Given the description of an element on the screen output the (x, y) to click on. 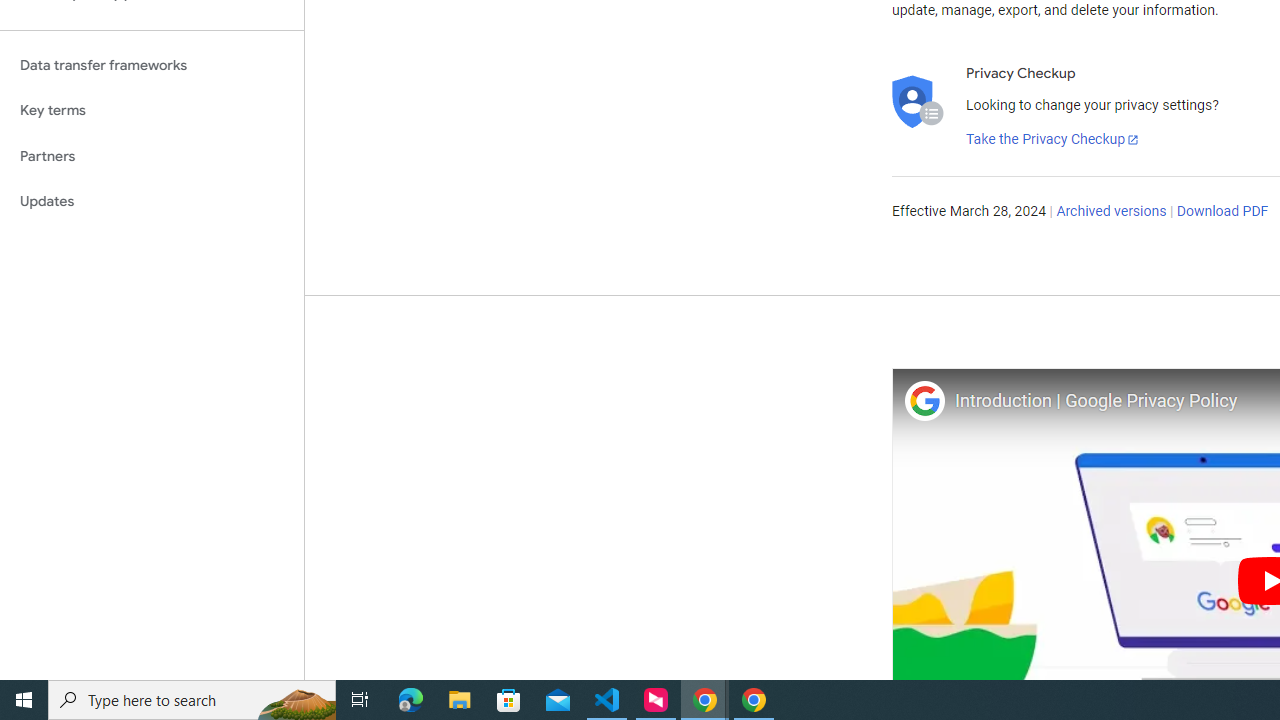
Download PDF (1222, 212)
Take the Privacy Checkup (1053, 140)
Photo image of Google (924, 400)
Archived versions (1111, 212)
